Given the description of an element on the screen output the (x, y) to click on. 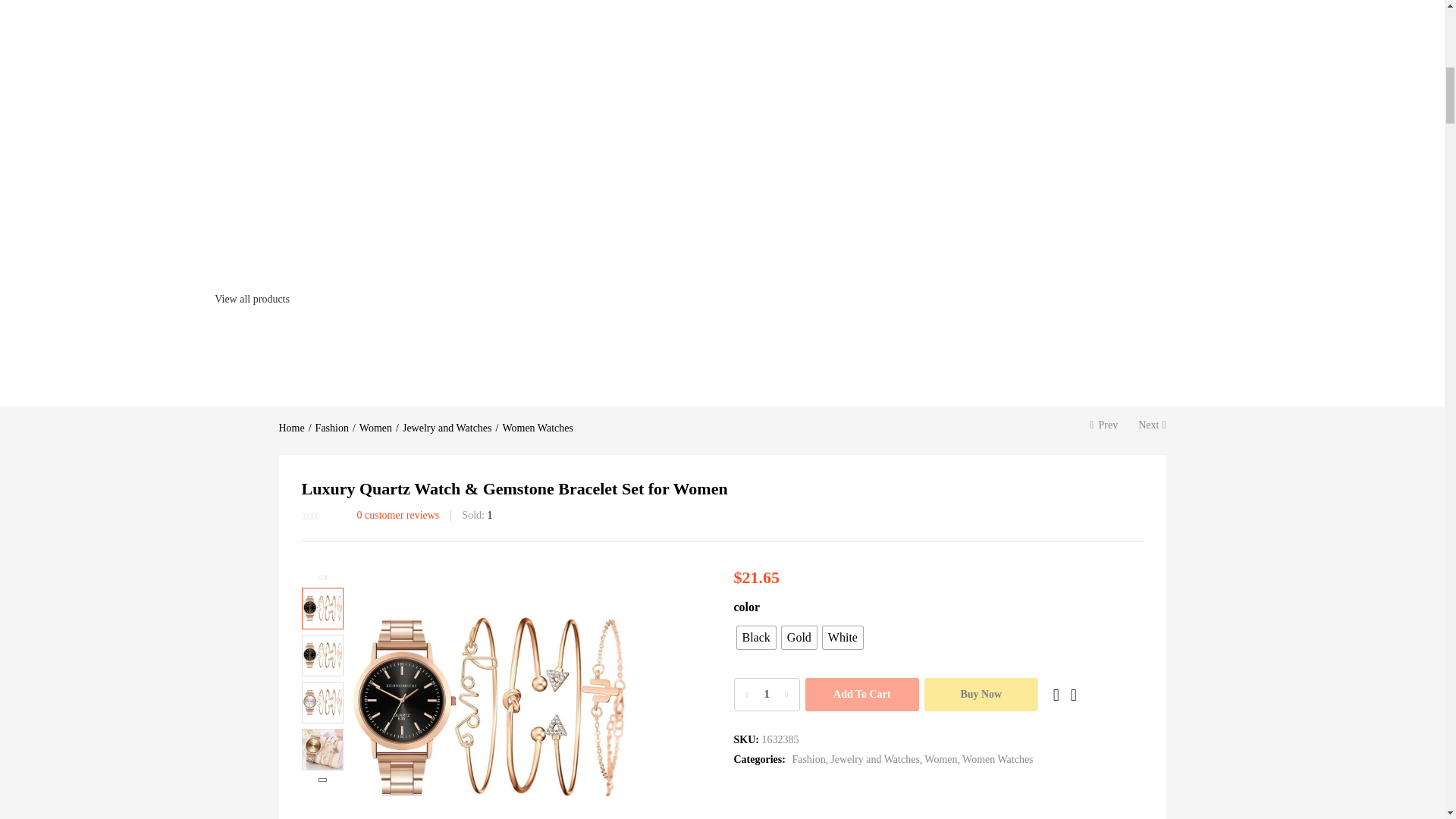
Baby Crib Backpack (752, 86)
30653-df49c5.png (490, 693)
White Noise USB Machine (1181, 86)
1 (766, 694)
Mini Car Trash Bin (967, 86)
Waterproof Foldable Changing Mat for Newborns (107, 298)
30653-c9a984.jpg (770, 693)
